Given the description of an element on the screen output the (x, y) to click on. 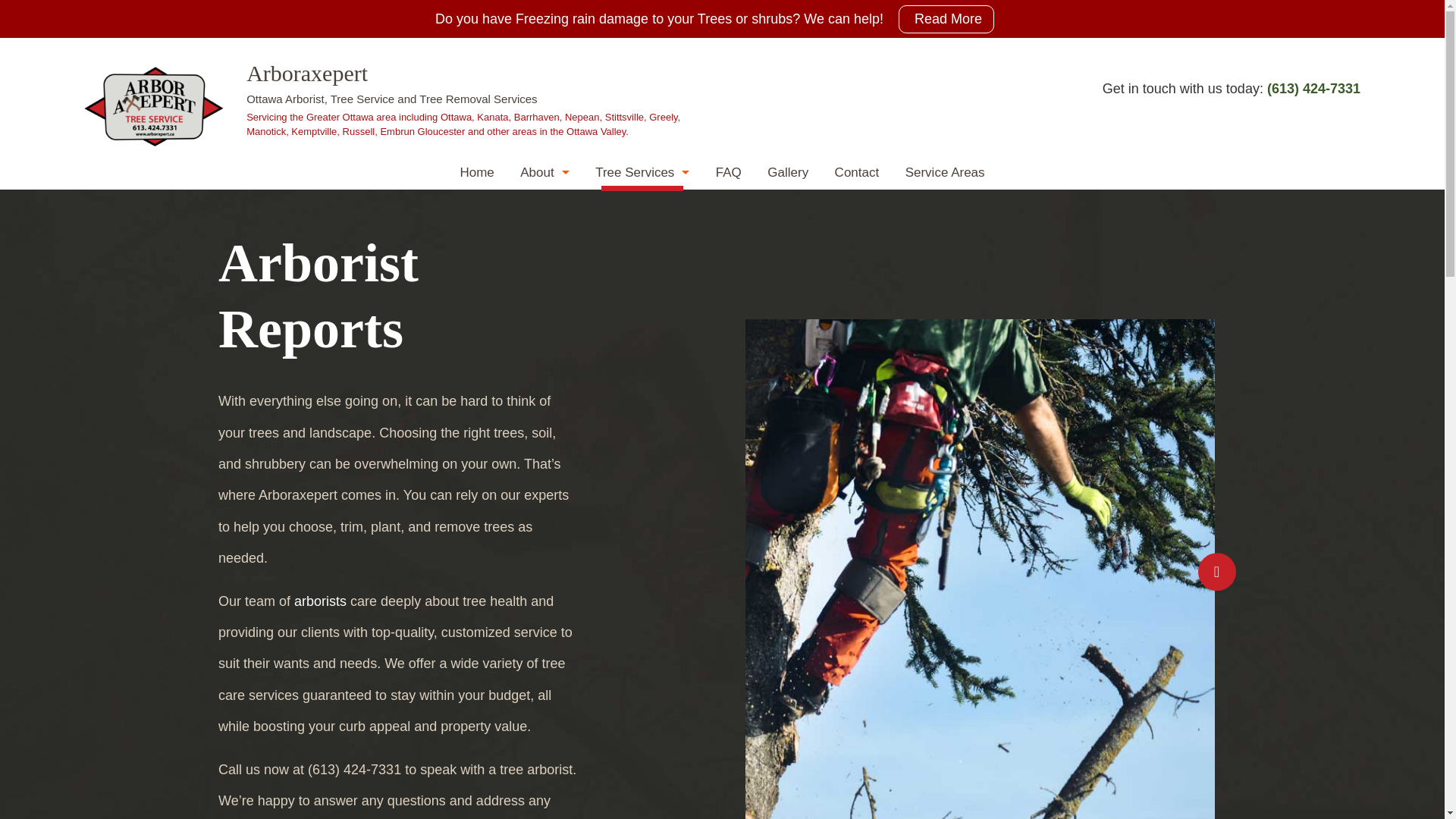
Next Element type: text (1217, 572)
Tree Services Element type: text (641, 172)
Tree Cabling Element type: text (641, 441)
Contact Element type: text (857, 172)
Testimonials Element type: text (544, 236)
FAQ Element type: text (728, 172)
Stump Grinding Element type: text (641, 271)
Tree Trimming Element type: text (641, 305)
Tree Pruning Element type: text (641, 236)
Emergency Tree Removal Element type: text (641, 339)
Tree Removal Element type: text (641, 202)
Stump and Tree Removal Element type: text (641, 373)
Tree Services Element type: text (641, 544)
Tree Planting Element type: text (641, 509)
arborists Element type: text (320, 600)
Home Element type: text (476, 172)
Get in touch with us today: (613) 424-7331 Element type: text (1231, 88)
Tree Health Element type: text (641, 578)
Blog Element type: text (544, 202)
Gallery Element type: text (787, 172)
Tree Assessments Element type: text (641, 475)
Service Areas Element type: text (945, 172)
Arboraxepert Element type: text (306, 72)
Arborist Reports Element type: text (641, 407)
About Element type: text (544, 172)
